Given the description of an element on the screen output the (x, y) to click on. 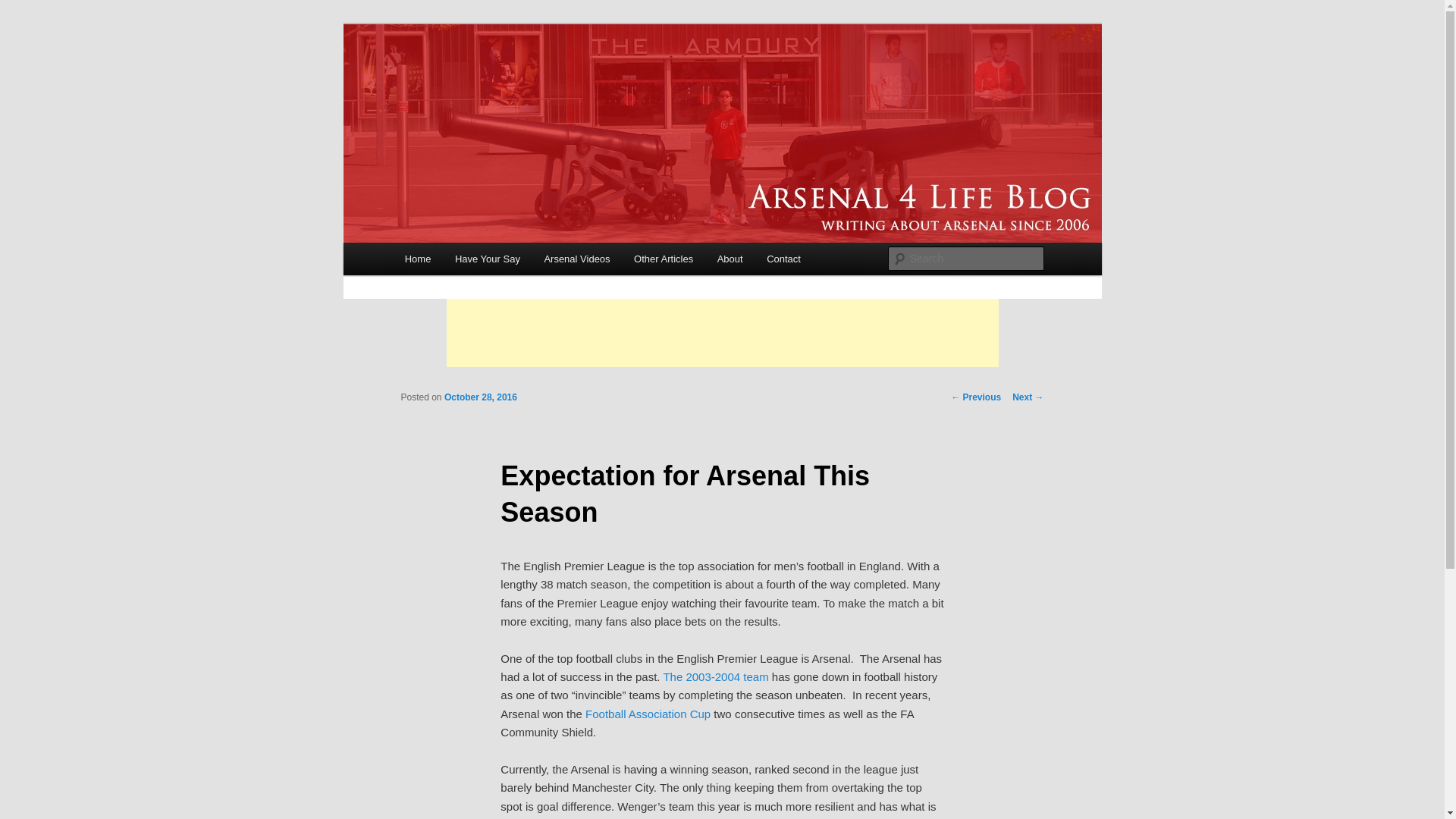
Football Association Cup (647, 713)
The 2003-2004 team (715, 676)
October 28, 2016 (480, 397)
Arsenal Videos (577, 258)
Other Articles (662, 258)
Advertisement (721, 332)
11:30 am (480, 397)
Search (24, 8)
About (729, 258)
Home (417, 258)
Have Your Say (487, 258)
Contact (783, 258)
